Given the description of an element on the screen output the (x, y) to click on. 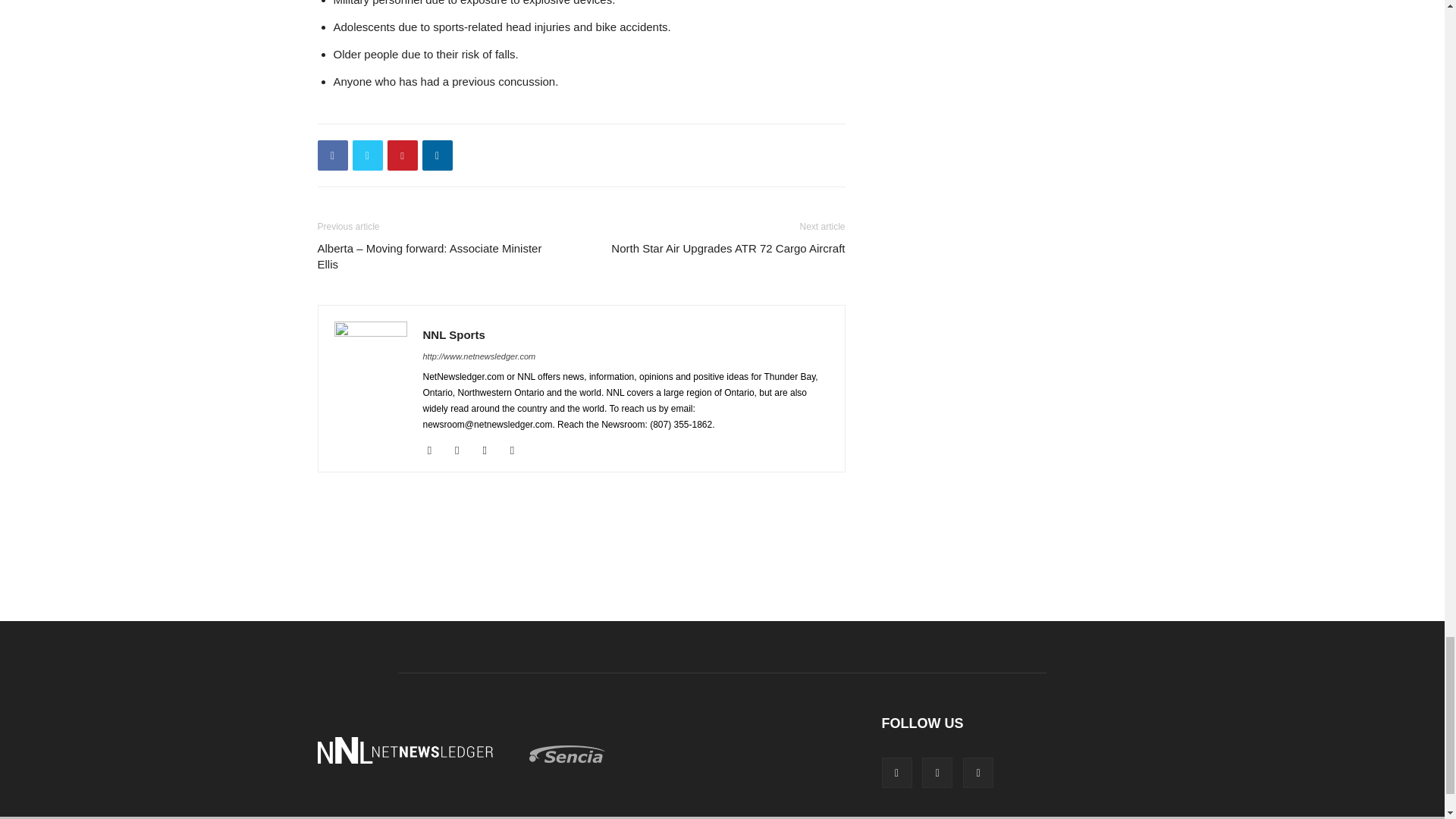
Pinterest (401, 155)
Linkedin (436, 155)
Facebook (332, 155)
Twitter (366, 155)
